Given the description of an element on the screen output the (x, y) to click on. 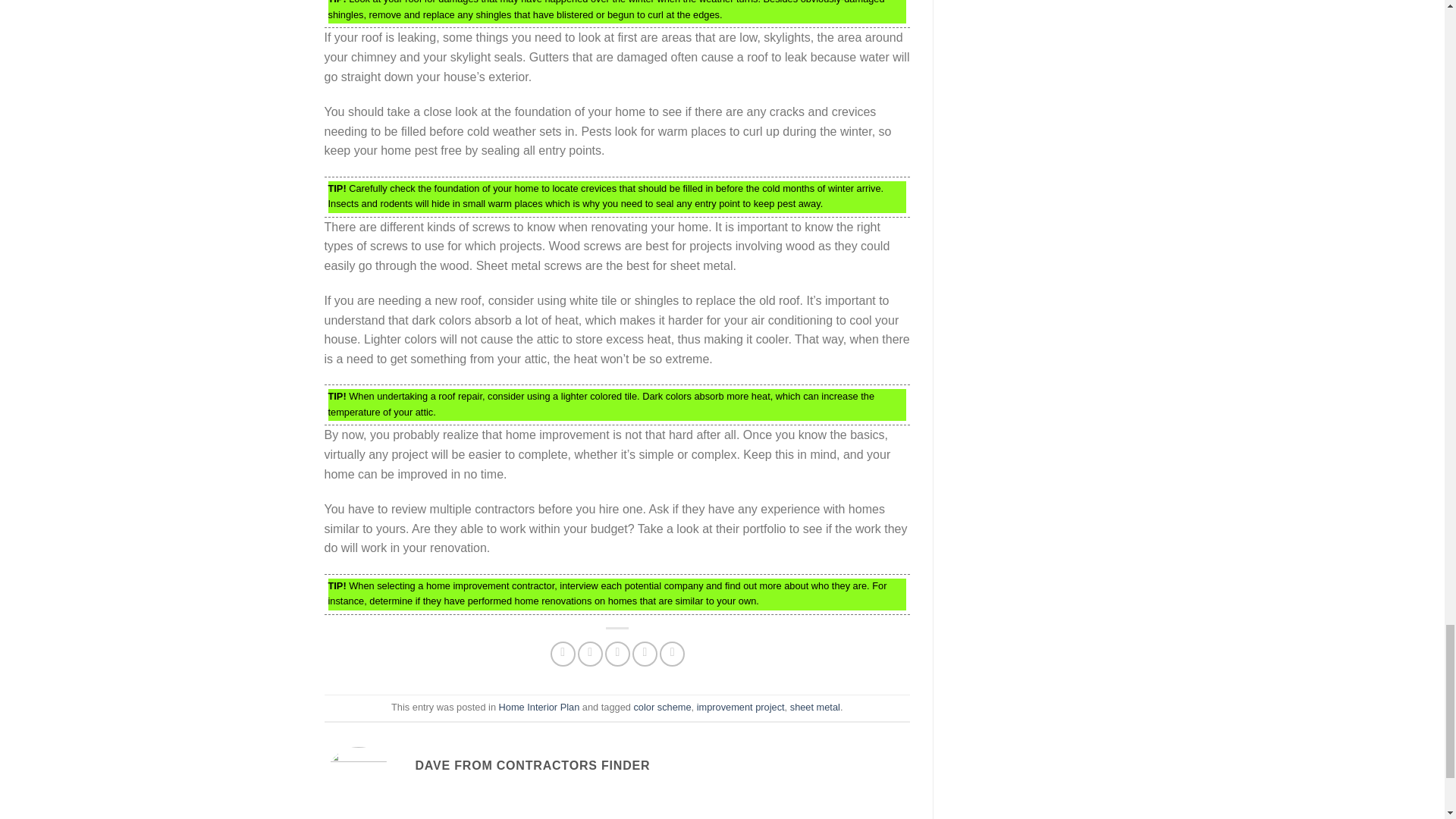
Pin on Pinterest (644, 653)
sheet metal (815, 706)
Email to a Friend (617, 653)
Share on LinkedIn (671, 653)
Share on Twitter (590, 653)
improvement project (740, 706)
color scheme (661, 706)
Home Interior Plan (539, 706)
Share on Facebook (562, 653)
